Given the description of an element on the screen output the (x, y) to click on. 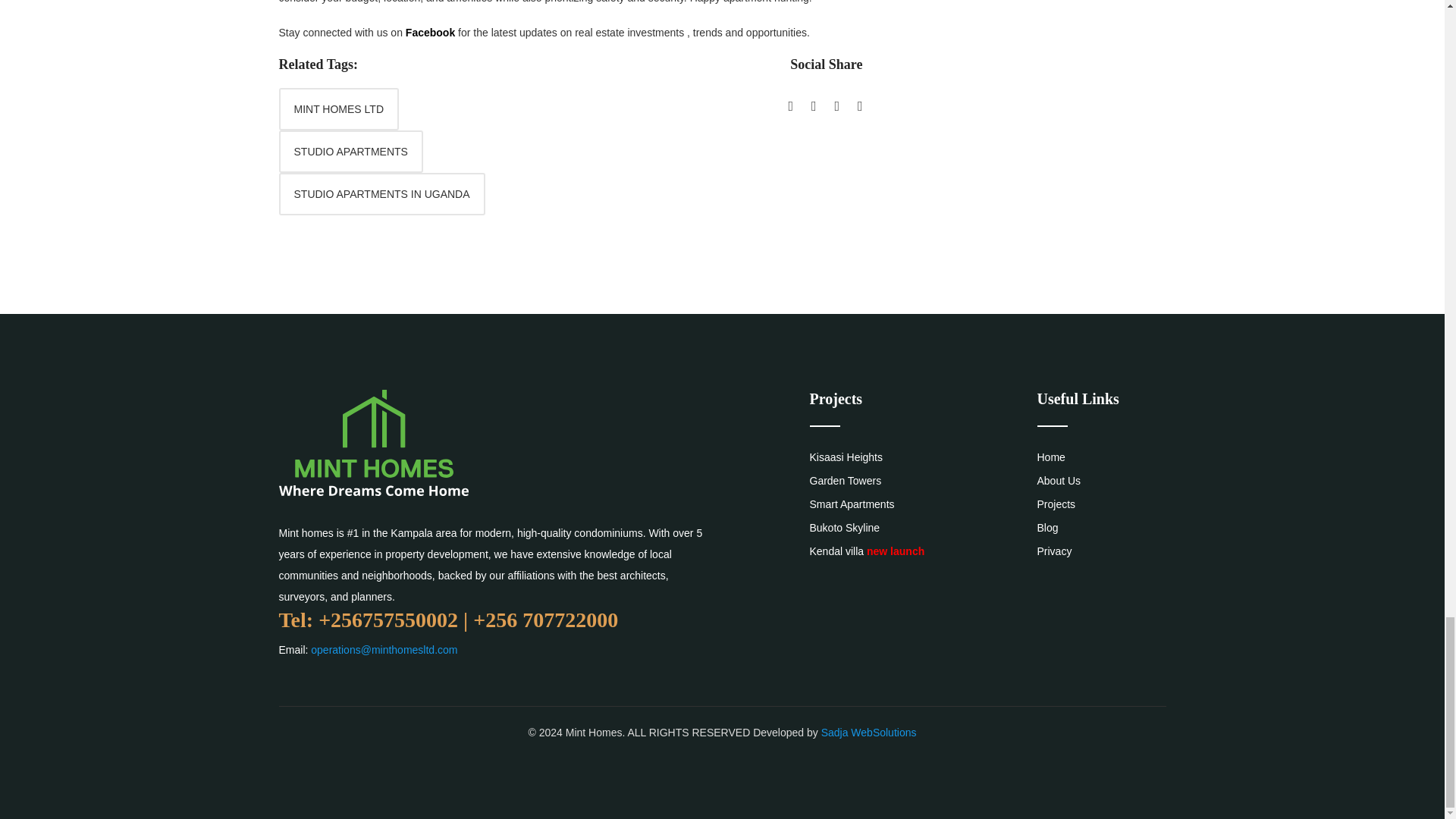
STUDIO APARTMENTS IN UGANDA (381, 193)
MINT HOMES LTD (338, 108)
Facebook (430, 32)
STUDIO APARTMENTS (351, 151)
